Given the description of an element on the screen output the (x, y) to click on. 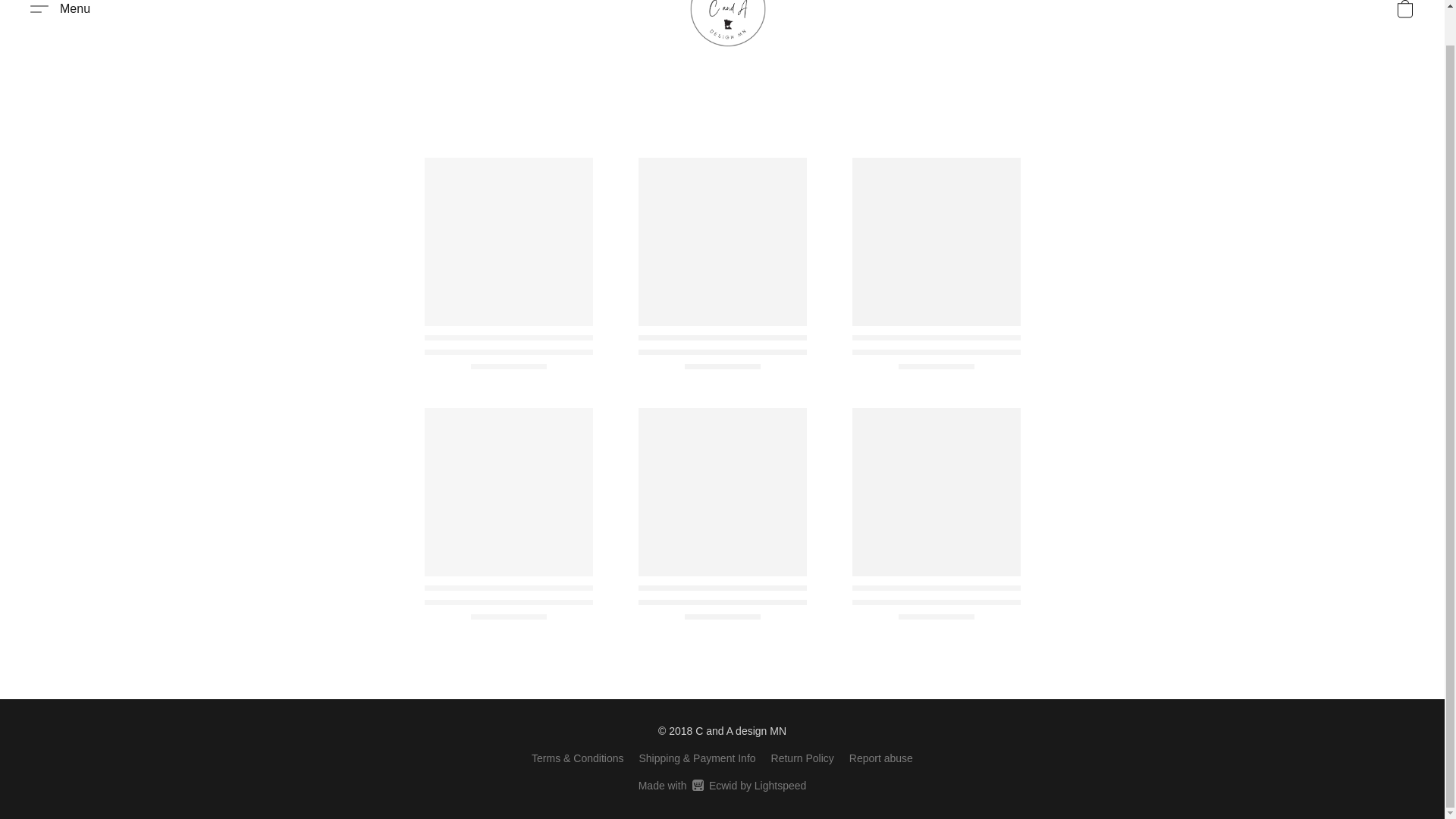
Return Policy (802, 758)
Report abuse (880, 758)
Menu (722, 785)
Go to your shopping cart (59, 13)
